Given the description of an element on the screen output the (x, y) to click on. 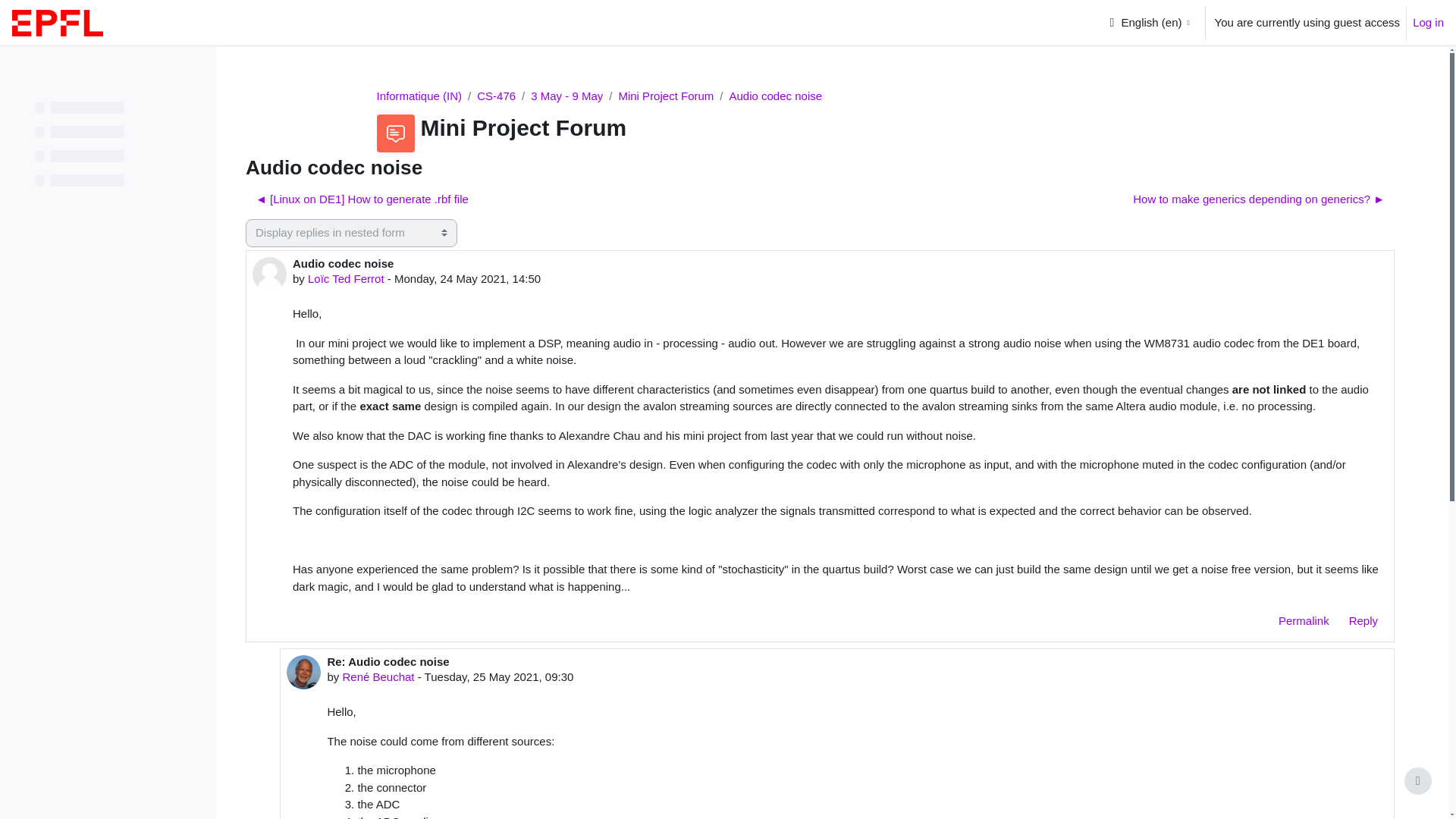
Log in (1428, 22)
Permanent link to this post (1303, 621)
CS-476 (496, 95)
Audio codec noise (775, 95)
Forum (665, 95)
3 May - 9 May (566, 95)
Reply (1363, 621)
Mini Project Forum (665, 95)
Real-time embedded systems (496, 95)
Permalink (1303, 621)
